Given the description of an element on the screen output the (x, y) to click on. 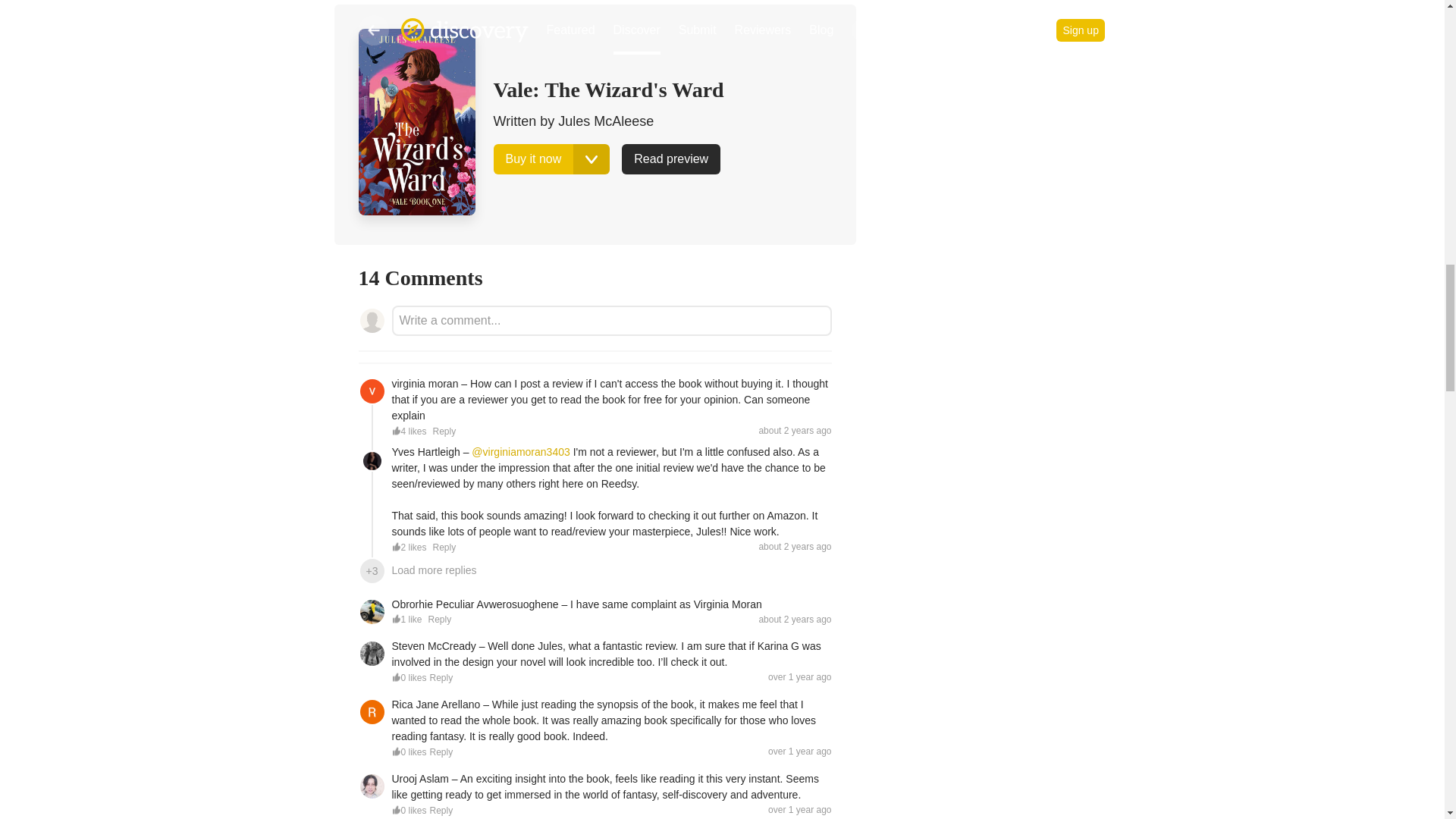
Read preview (670, 159)
Read preview (670, 159)
Buy it now (533, 159)
Buy it now (533, 159)
